Given the description of an element on the screen output the (x, y) to click on. 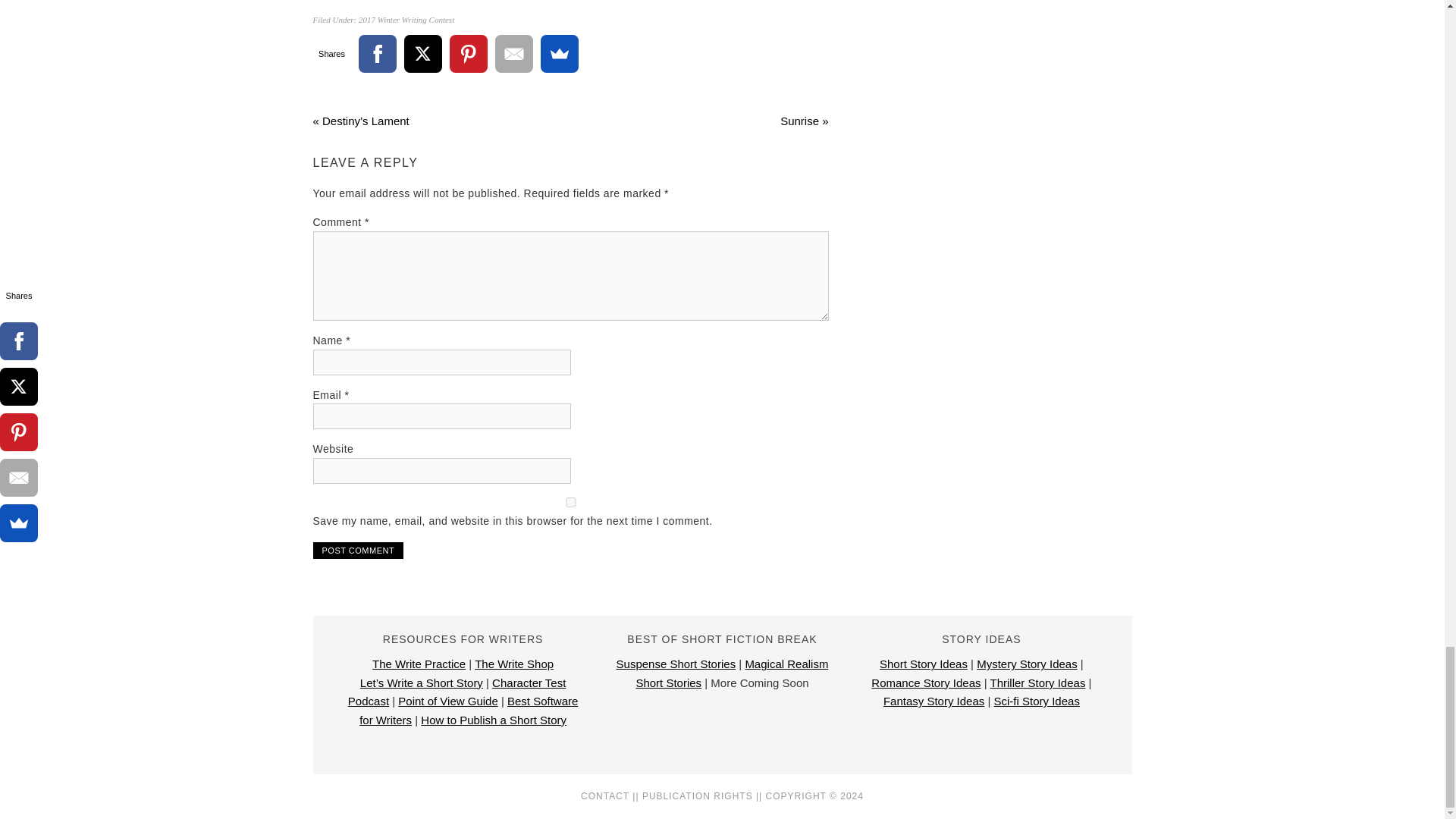
X (422, 53)
Email (513, 53)
SumoMe (559, 53)
Pinterest (467, 53)
Facebook (377, 53)
Post Comment (358, 550)
2017 Winter Writing Contest (406, 19)
yes (570, 501)
Post Comment (358, 550)
